Given the description of an element on the screen output the (x, y) to click on. 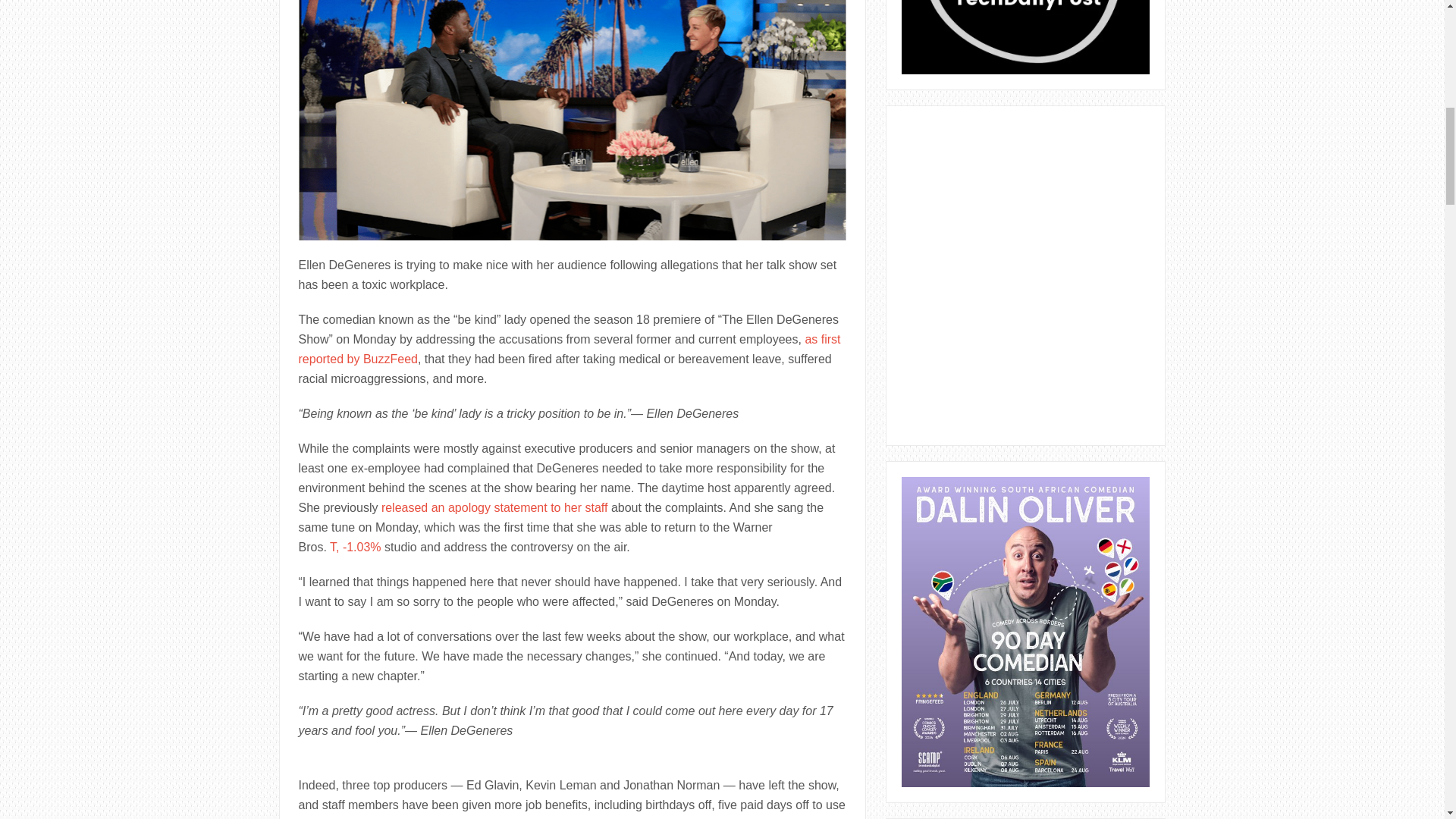
released an apology statement to her staff (494, 507)
as first reported by BuzzFeed (569, 348)
